Given the description of an element on the screen output the (x, y) to click on. 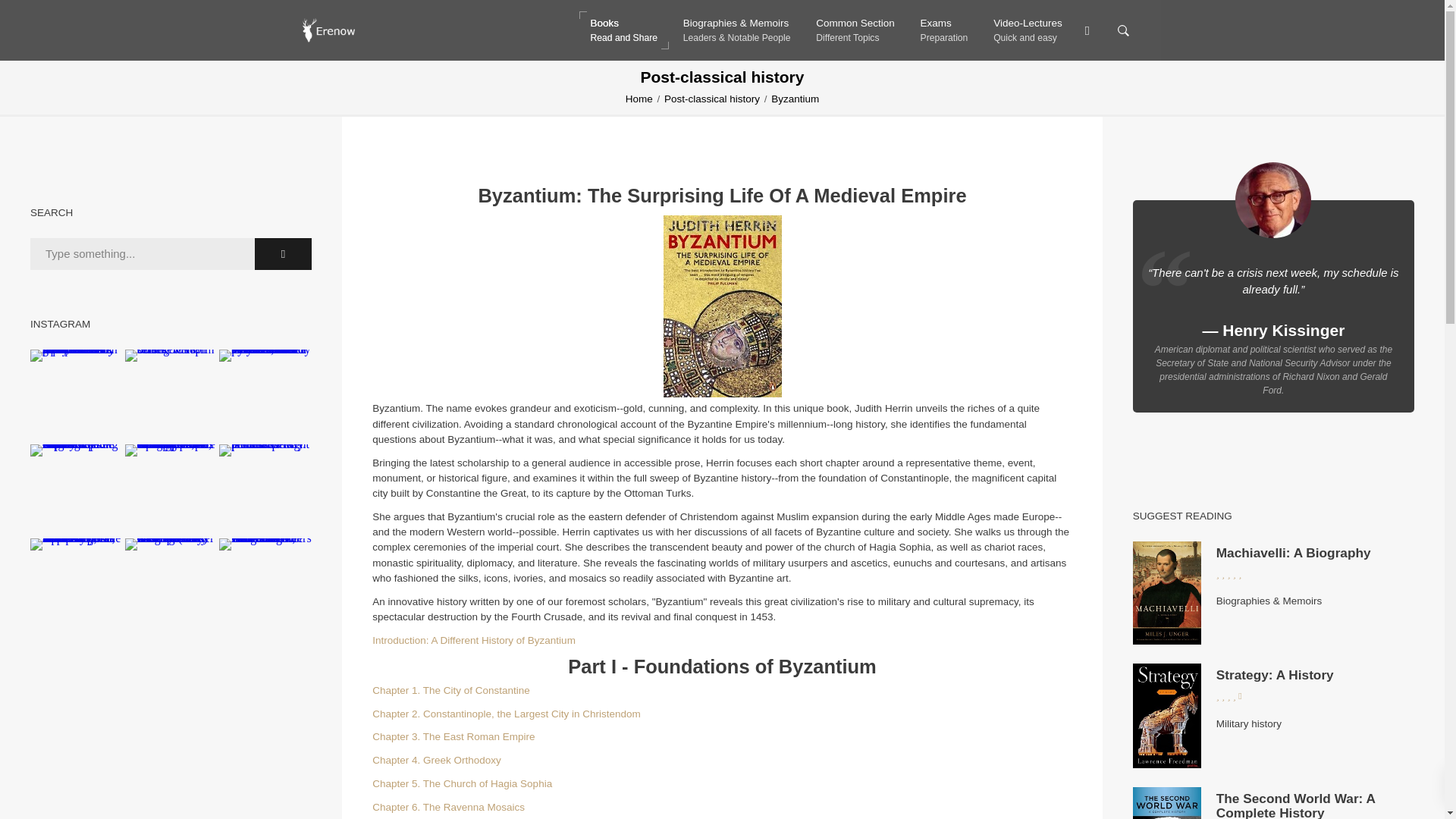
Byzantium: The Surprising Life Of A Medieval Empire (623, 30)
